Given the description of an element on the screen output the (x, y) to click on. 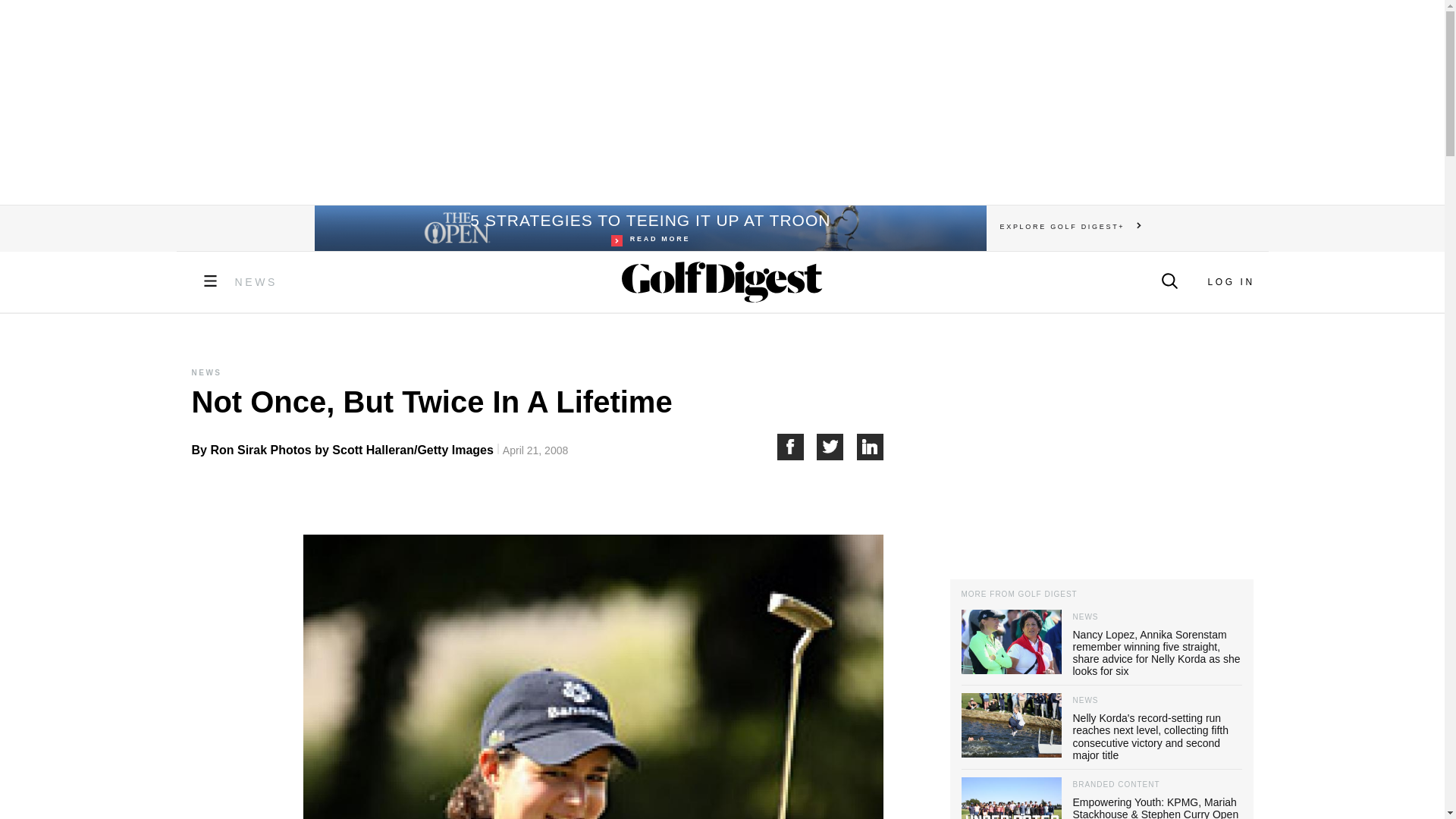
Share on Facebook (796, 447)
3rd party ad content (721, 101)
Share on LinkedIn (870, 447)
3rd party ad content (1100, 453)
LOG IN (1230, 281)
NEWS (649, 227)
Share on Twitter (256, 282)
